Given the description of an element on the screen output the (x, y) to click on. 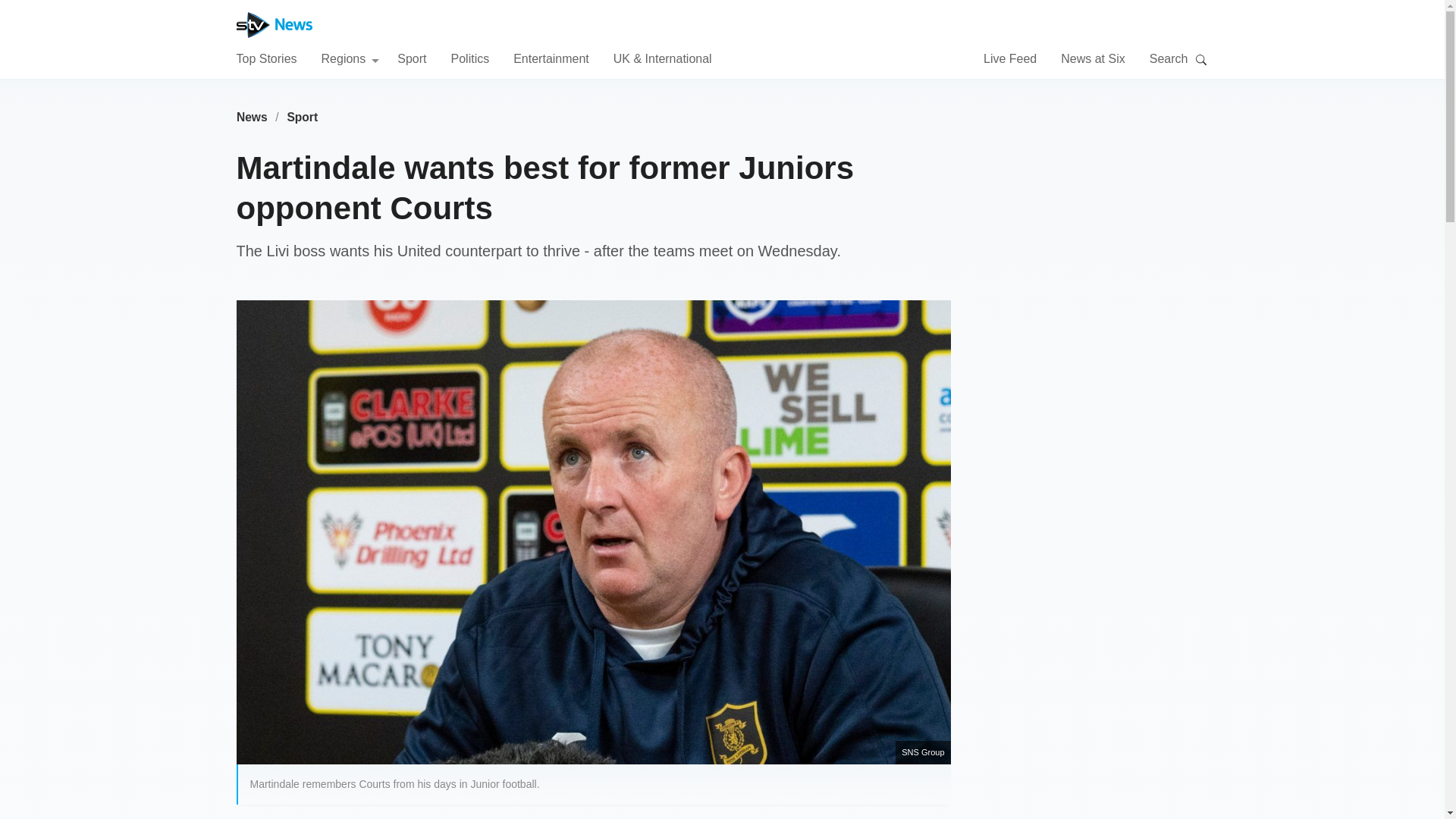
Regions (350, 57)
Entertainment (551, 57)
Sport (302, 116)
Live Feed (1010, 57)
Top Stories (266, 57)
Politics (469, 57)
Search (1201, 59)
News (252, 116)
News at Six (1092, 57)
